Given the description of an element on the screen output the (x, y) to click on. 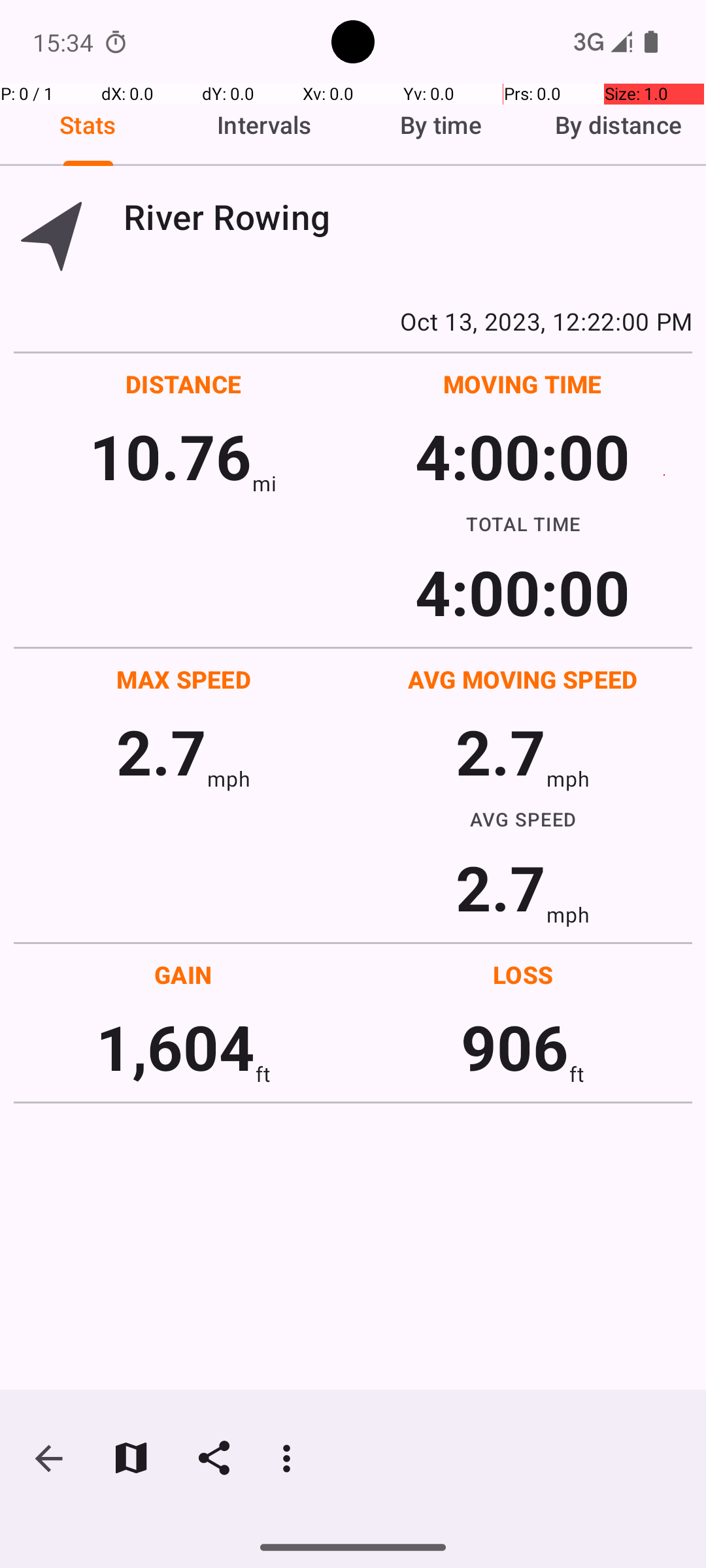
River Rowing Element type: android.widget.TextView (407, 216)
Oct 13, 2023, 12:22:00 PM Element type: android.widget.TextView (352, 320)
10.76 Element type: android.widget.TextView (170, 455)
4:00:00 Element type: android.widget.TextView (522, 455)
2.7 Element type: android.widget.TextView (161, 750)
1,604 Element type: android.widget.TextView (175, 1045)
906 Element type: android.widget.TextView (514, 1045)
